Given the description of an element on the screen output the (x, y) to click on. 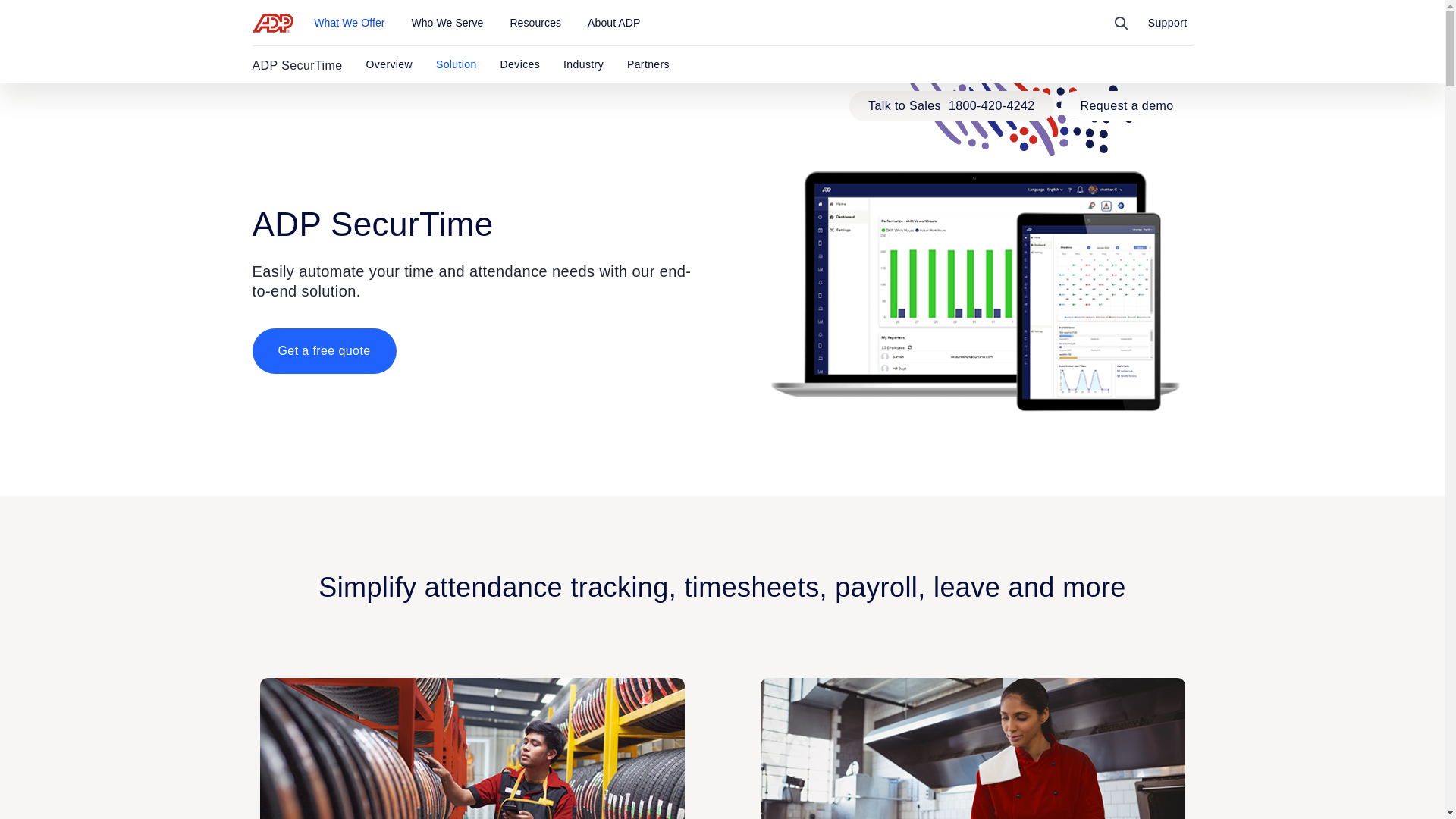
Who We Serve (446, 22)
What We Offer (349, 22)
